Given the description of an element on the screen output the (x, y) to click on. 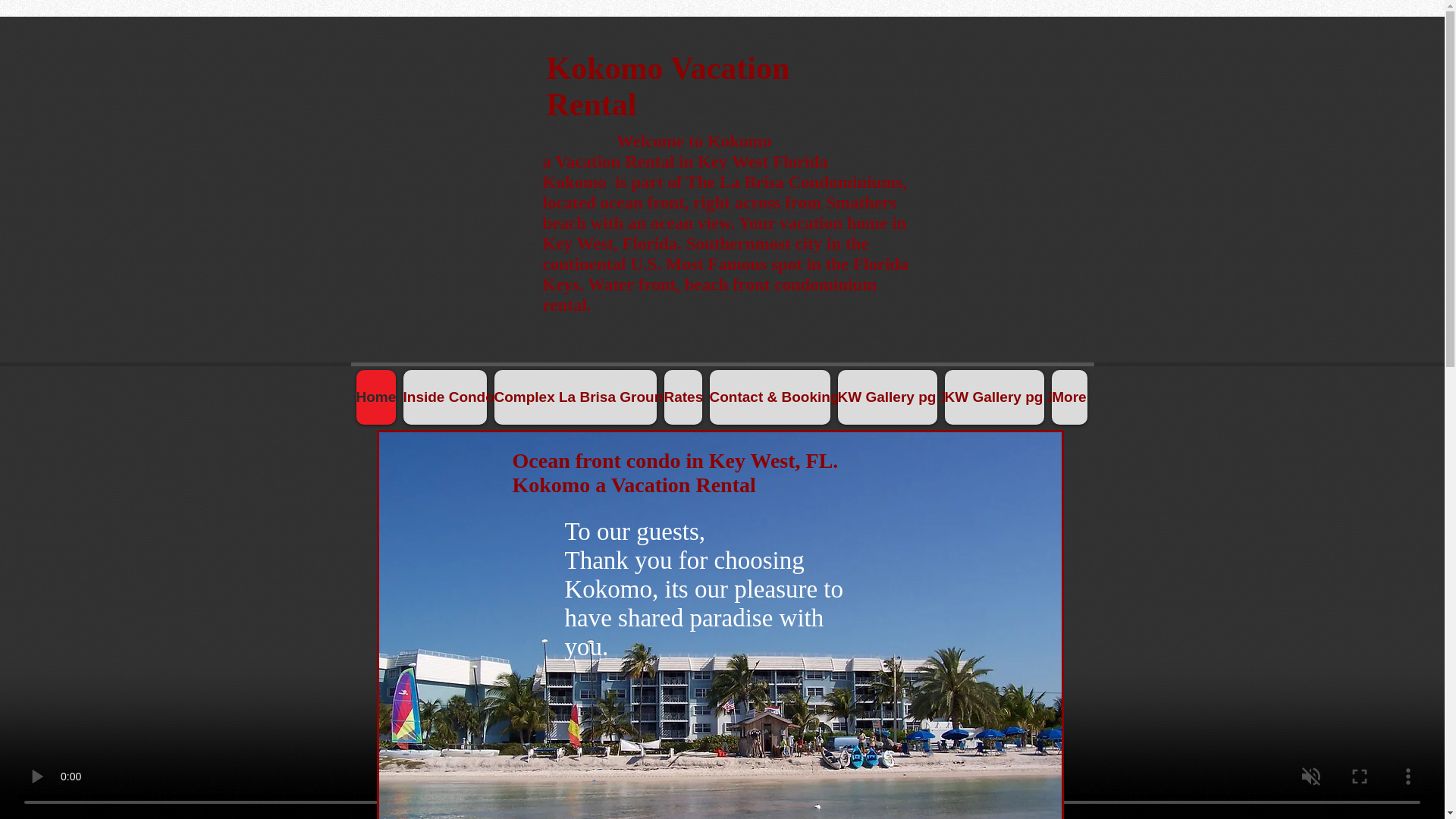
Rates (682, 397)
Complex La Brisa Grounds (575, 397)
KW Gallery pg 1 (886, 397)
KW Gallery pg 2 (993, 397)
Inside Condo (444, 397)
Home (376, 397)
